Given the description of an element on the screen output the (x, y) to click on. 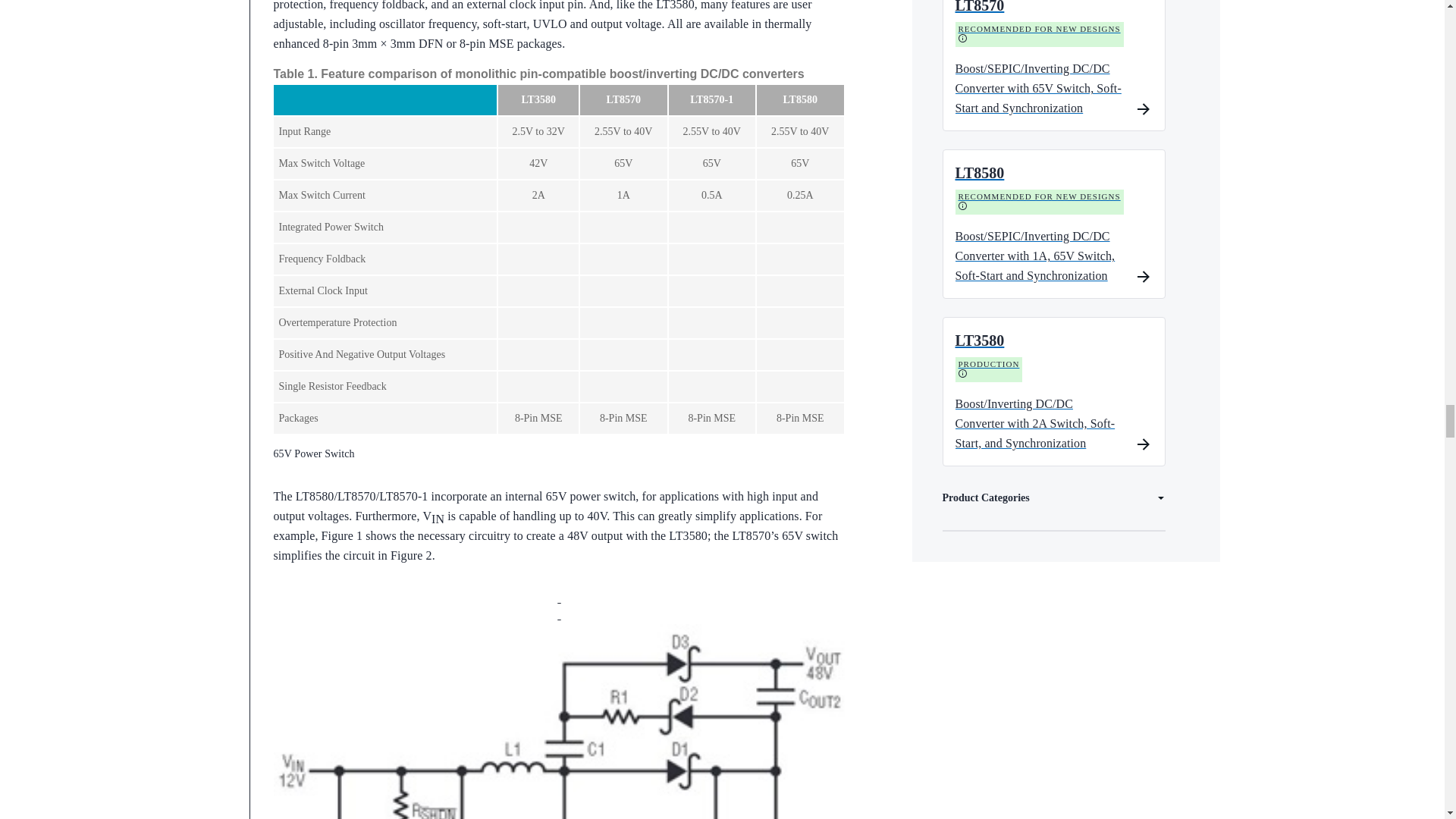
Figure 1 (558, 721)
